Given the description of an element on the screen output the (x, y) to click on. 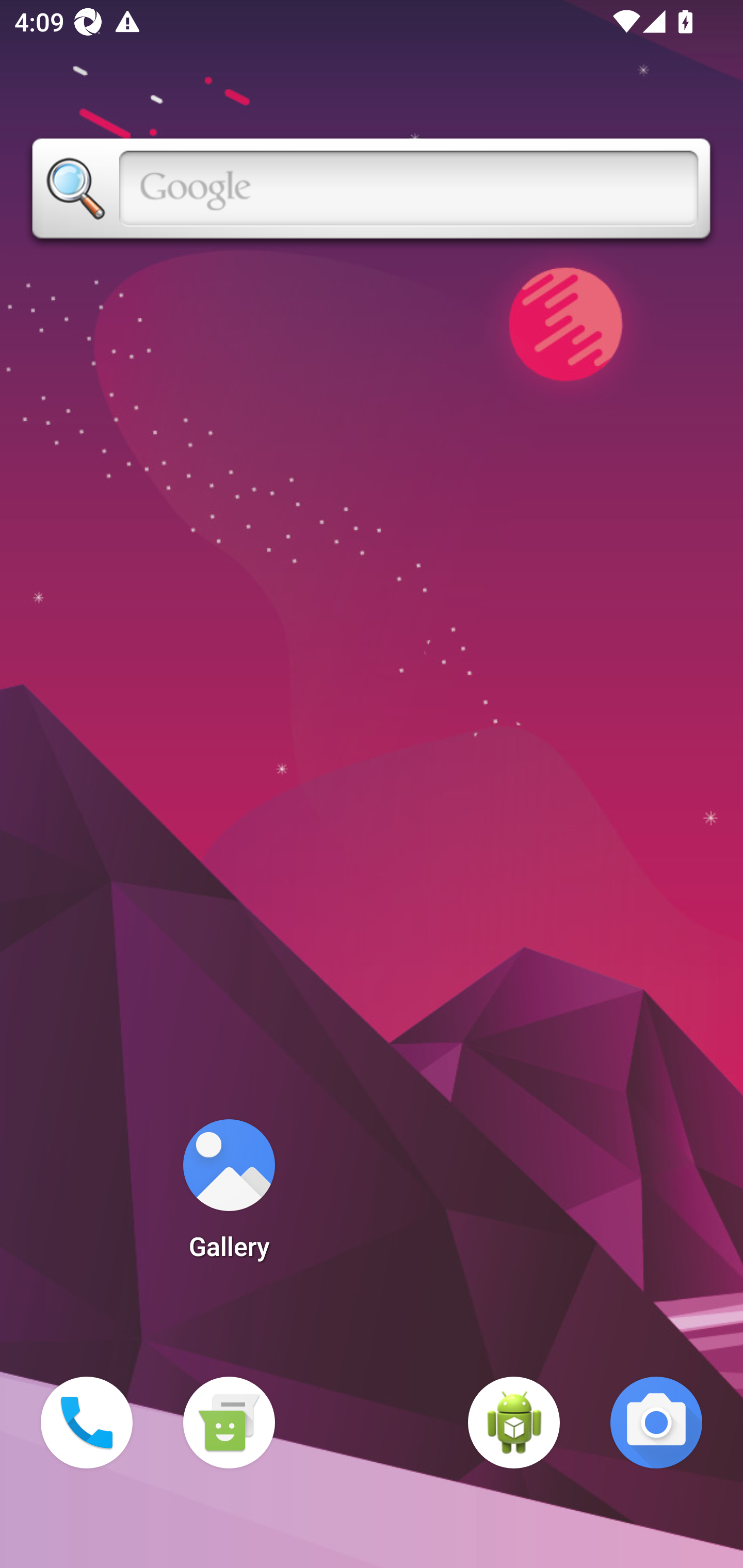
Gallery (228, 1195)
Phone (86, 1422)
Messaging (228, 1422)
WebView Browser Tester (513, 1422)
Camera (656, 1422)
